Given the description of an element on the screen output the (x, y) to click on. 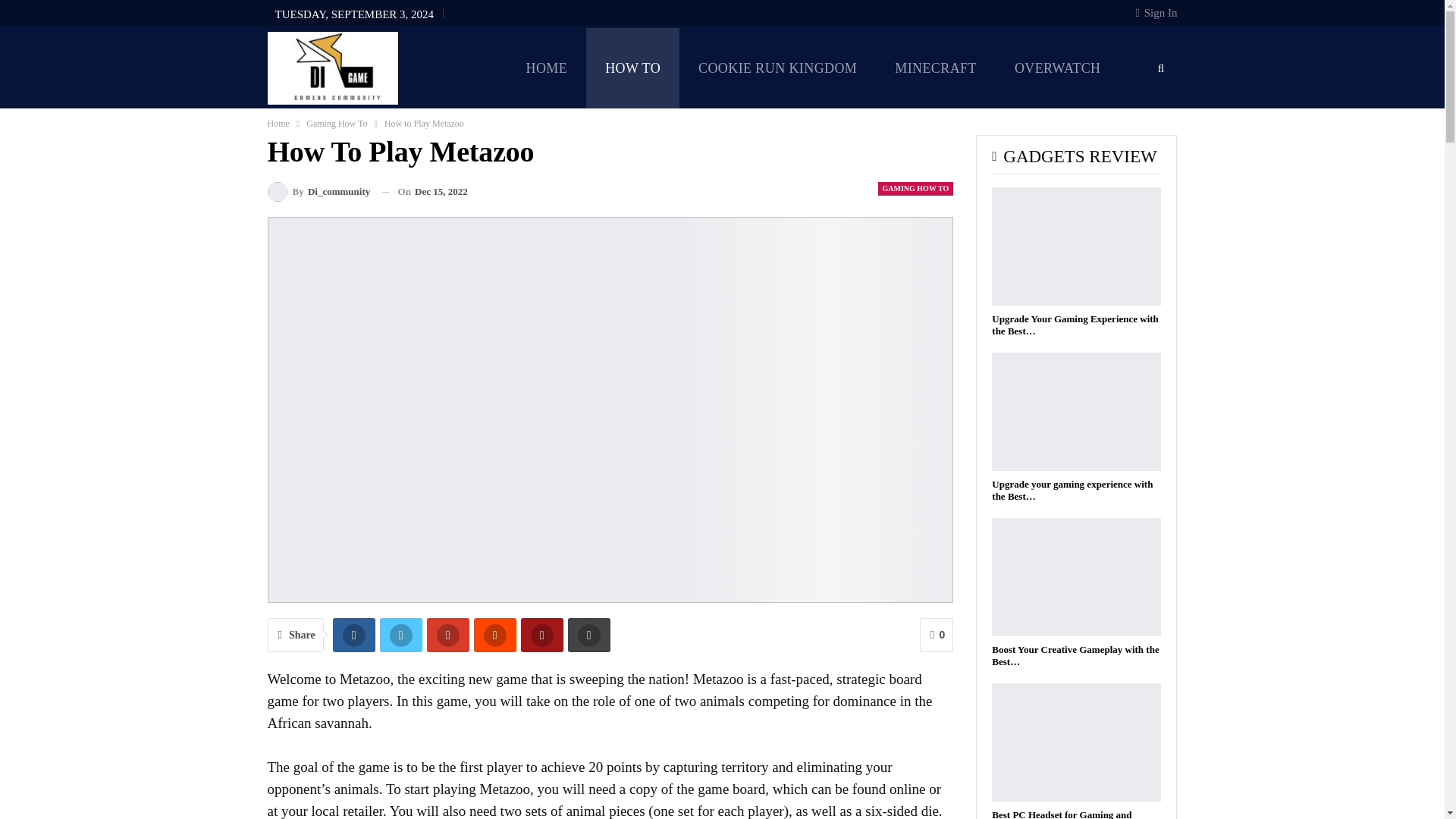
HOME (546, 67)
MINECRAFT (935, 67)
MORE (909, 148)
Sign In (1156, 12)
Gaming How To (335, 123)
GAMING HOW TO (915, 188)
OVERWATCH (1057, 67)
HOW TO (632, 67)
ANIME (827, 148)
Home (277, 123)
